Given the description of an element on the screen output the (x, y) to click on. 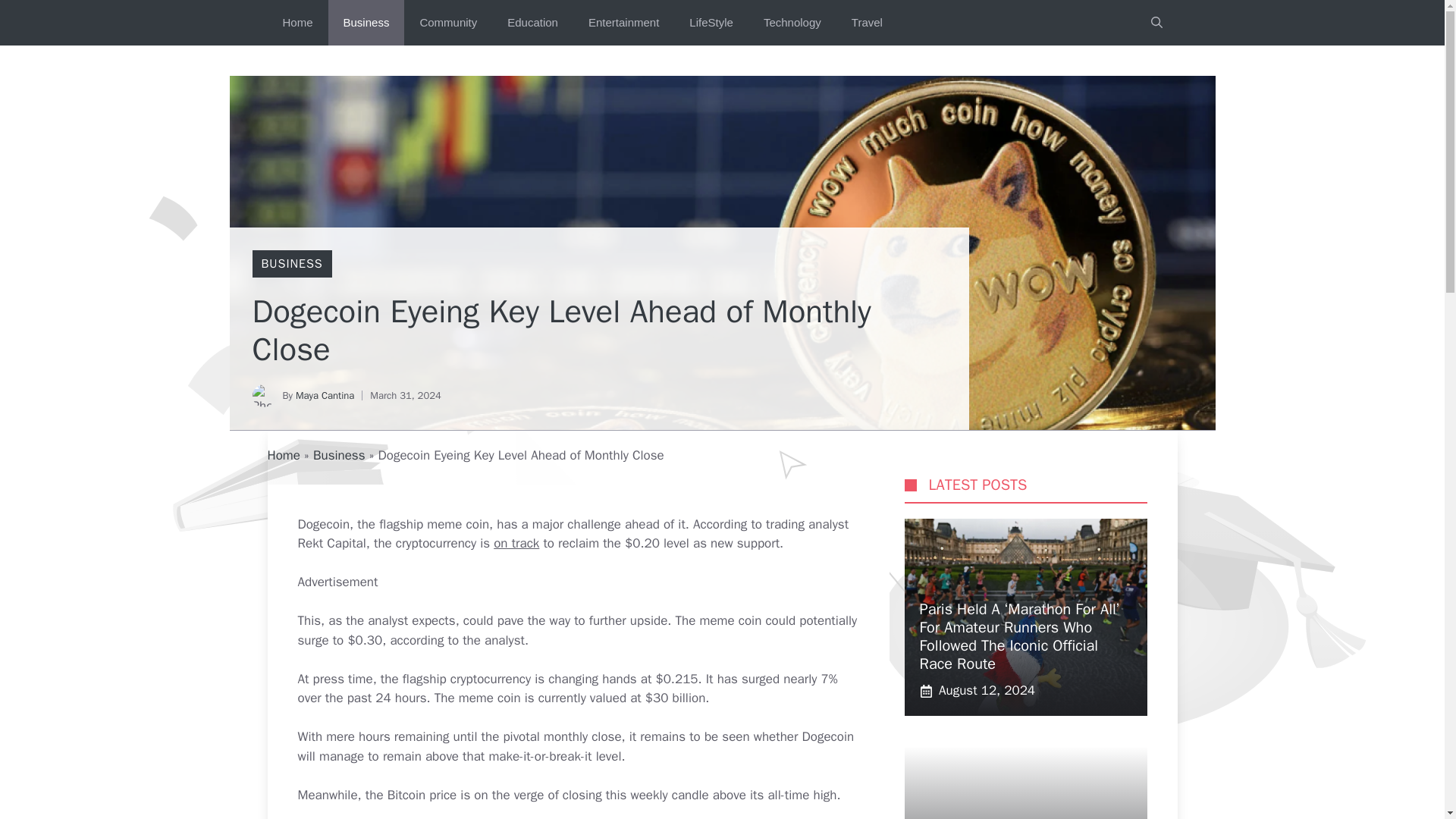
Travel (866, 22)
Entertainment (623, 22)
Community (448, 22)
LifeStyle (711, 22)
Business (339, 455)
Home (282, 455)
Education (532, 22)
Business (366, 22)
BUSINESS (290, 263)
Technology (791, 22)
